Given the description of an element on the screen output the (x, y) to click on. 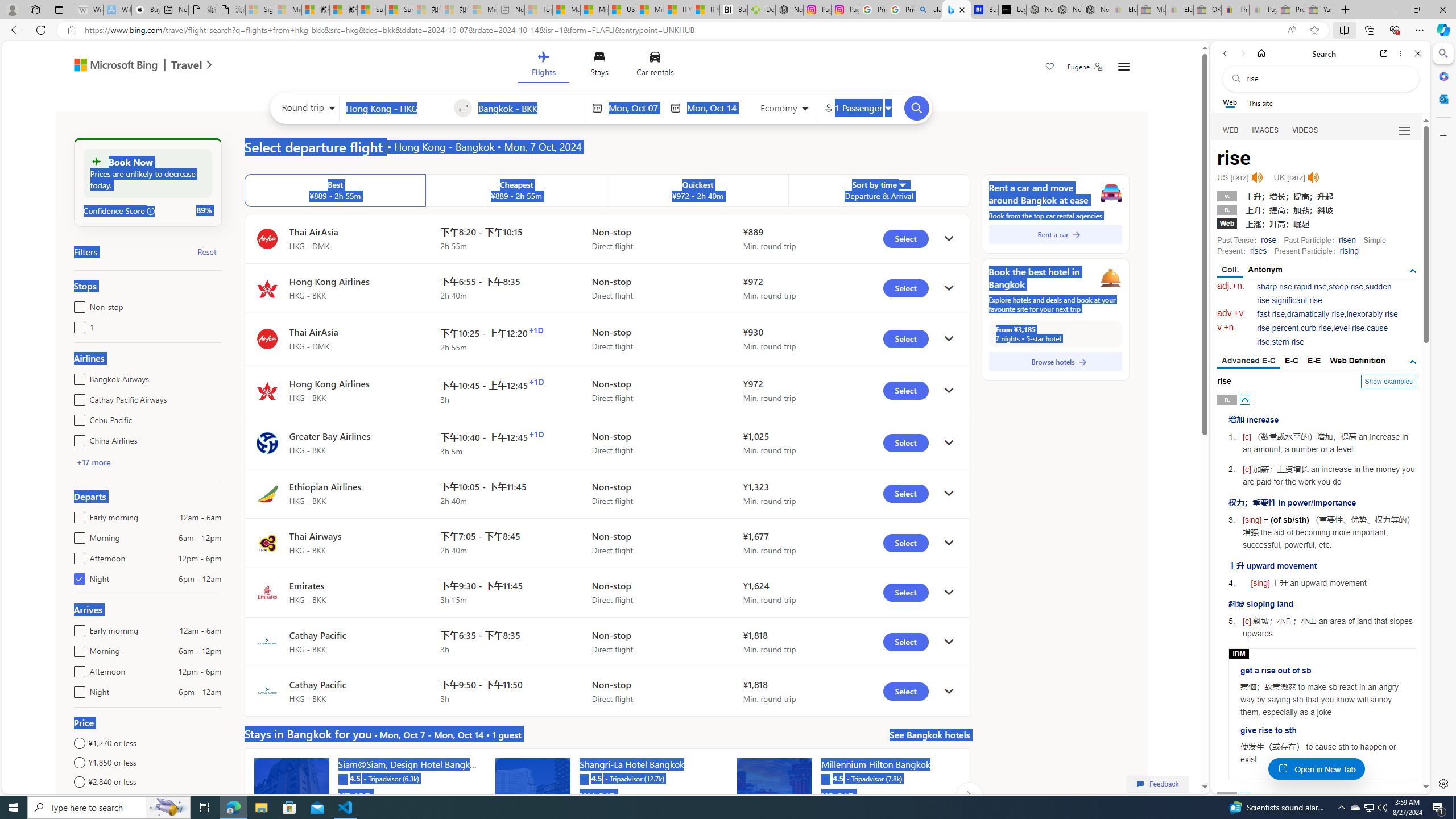
Eugene (1084, 66)
Marine life - MSN (566, 9)
AutomationID: posbtn_1 (1245, 796)
Search Filter, IMAGES (1265, 129)
Select class of service (784, 109)
Wikipedia - Sleeping (88, 9)
